Given the description of an element on the screen output the (x, y) to click on. 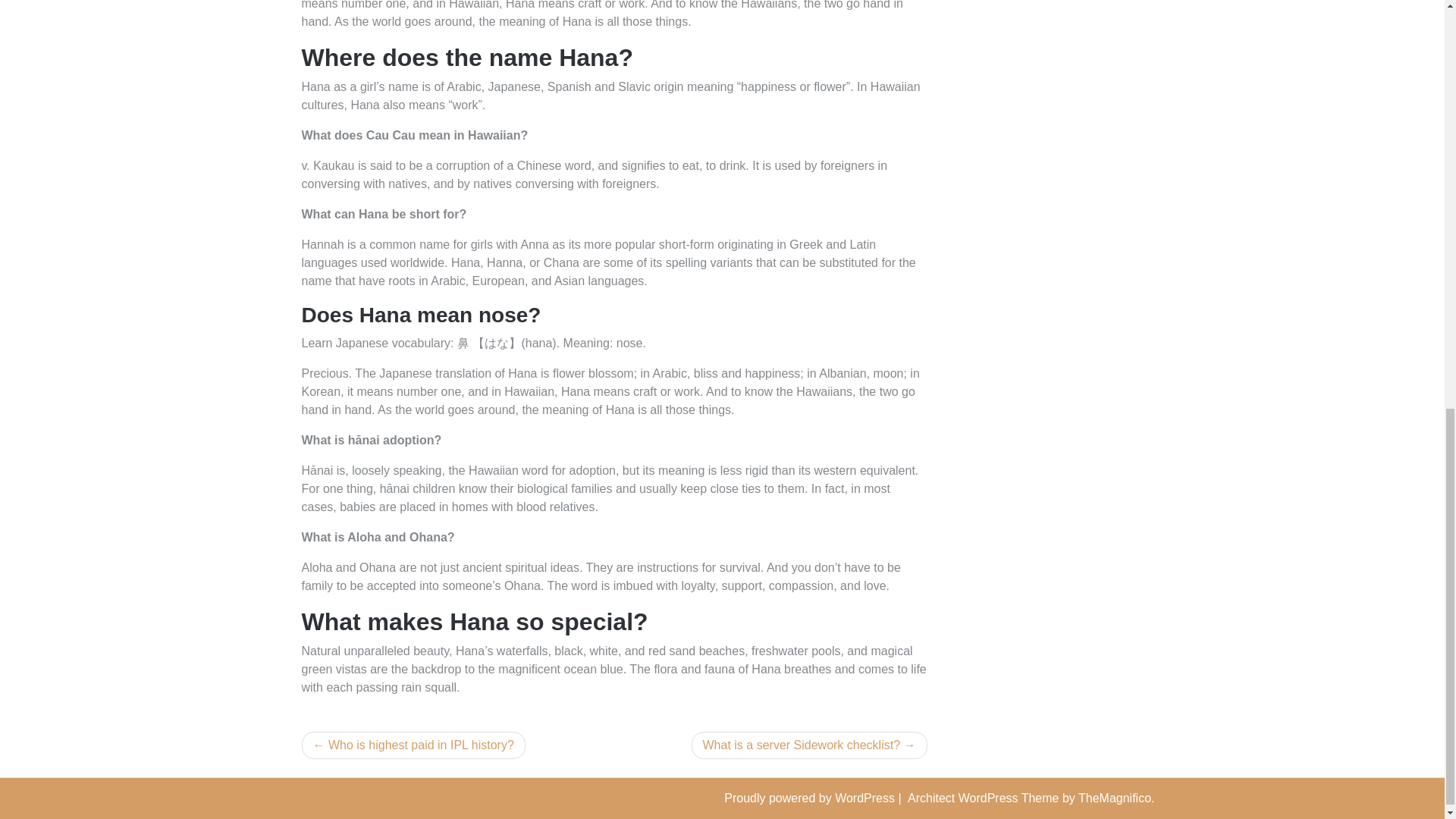
What is a server Sidework checklist? (809, 745)
Who is highest paid in IPL history? (413, 745)
Proudly powered by WordPress (810, 797)
